Given the description of an element on the screen output the (x, y) to click on. 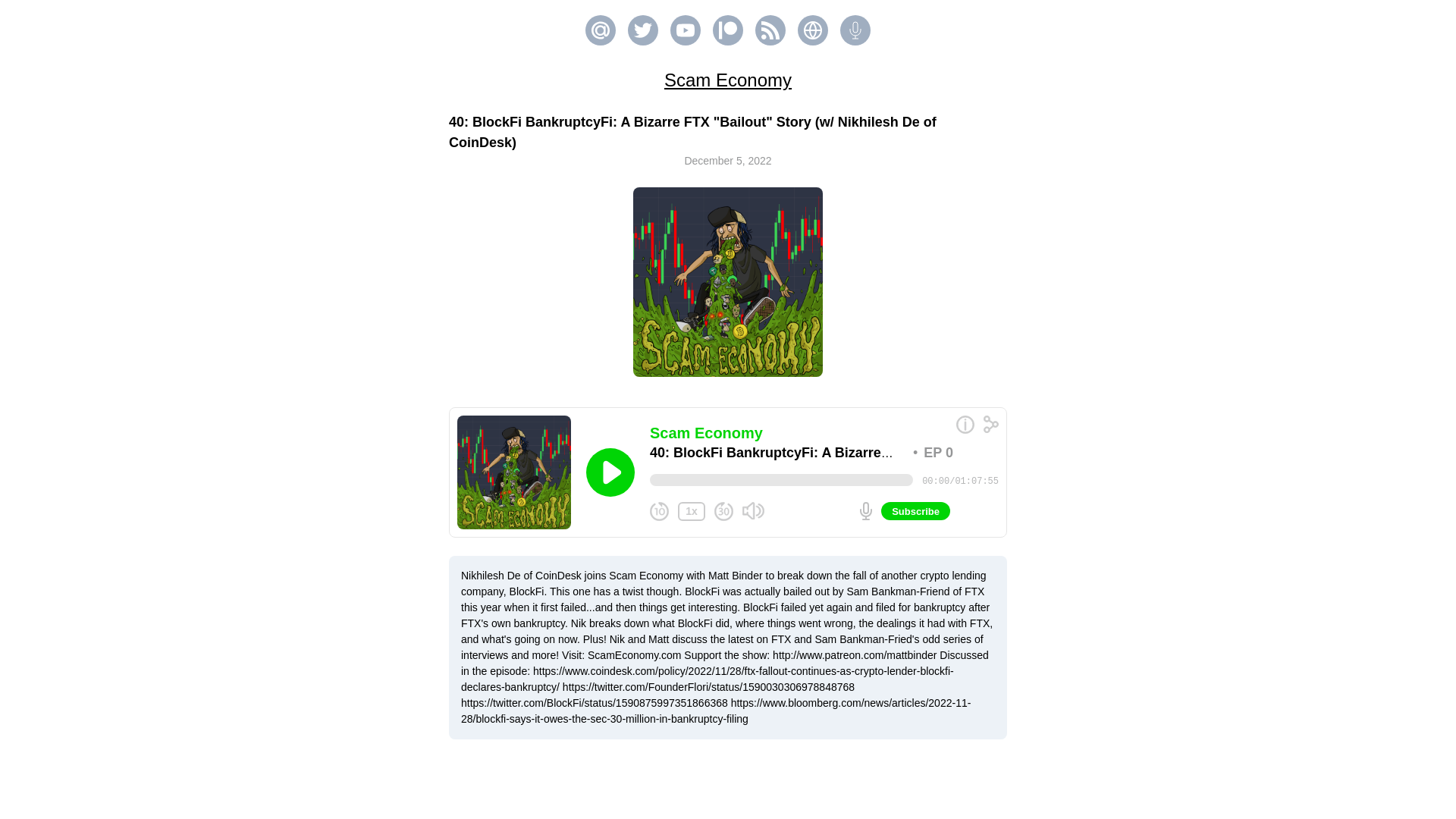
Scam Economy (727, 79)
